Given the description of an element on the screen output the (x, y) to click on. 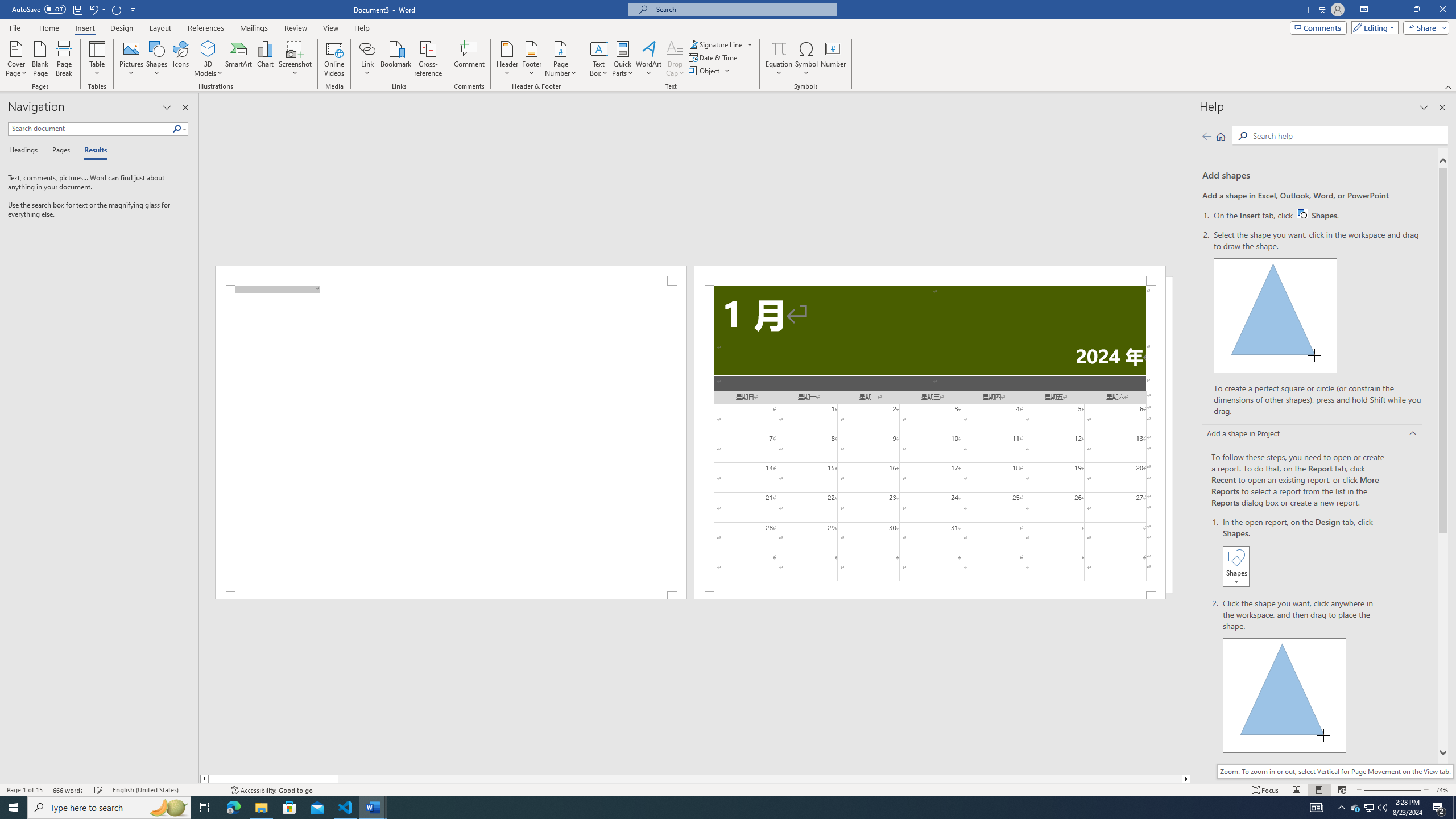
Blank Page (40, 58)
